Given the description of an element on the screen output the (x, y) to click on. 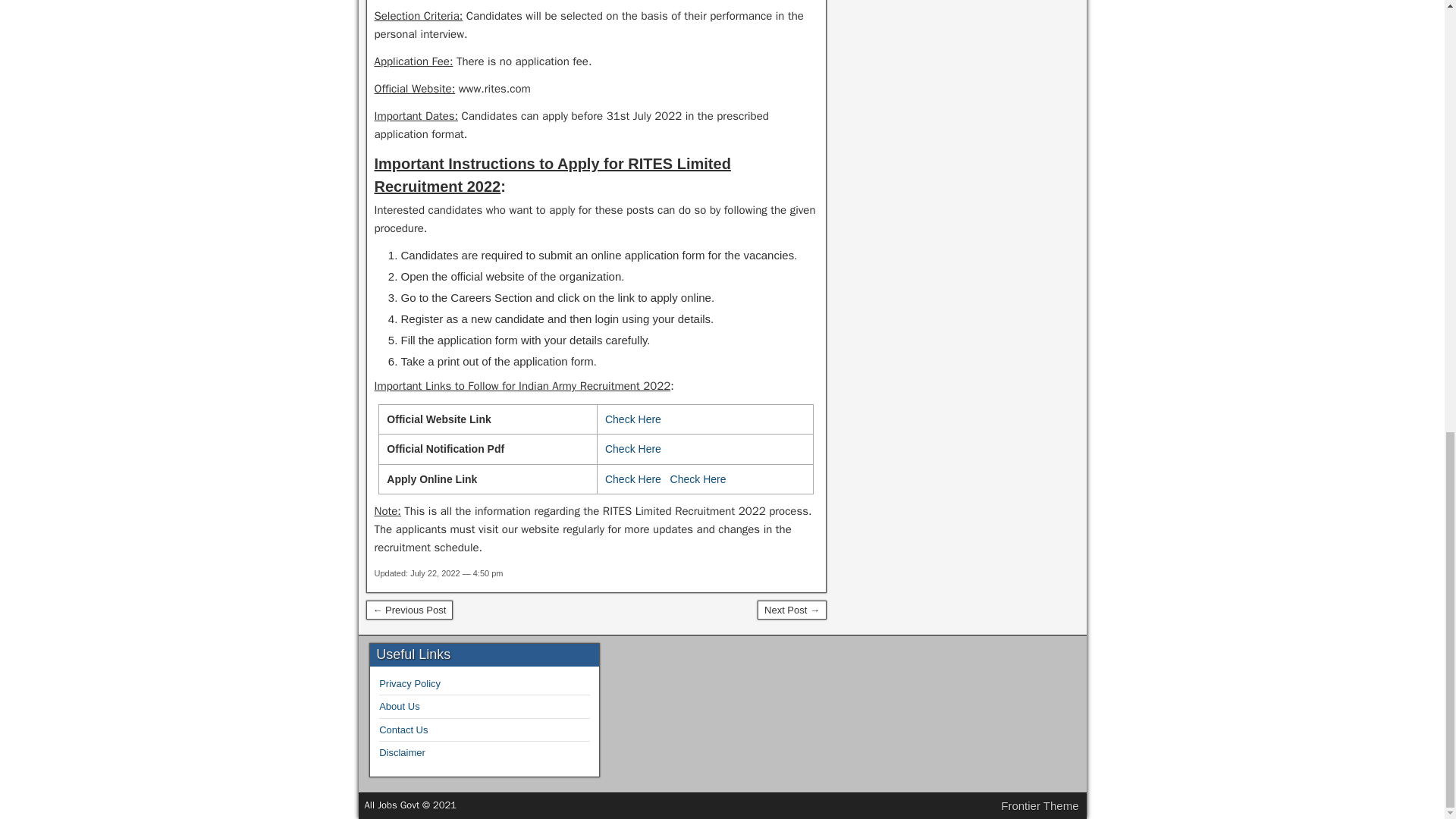
Privacy Policy (409, 683)
Check Here (633, 419)
Frontier Theme (1039, 805)
About Us (398, 706)
Disclaimer (401, 752)
Check Here (633, 479)
Contact Us (403, 729)
Check Here (697, 479)
Check Here (633, 449)
